Given the description of an element on the screen output the (x, y) to click on. 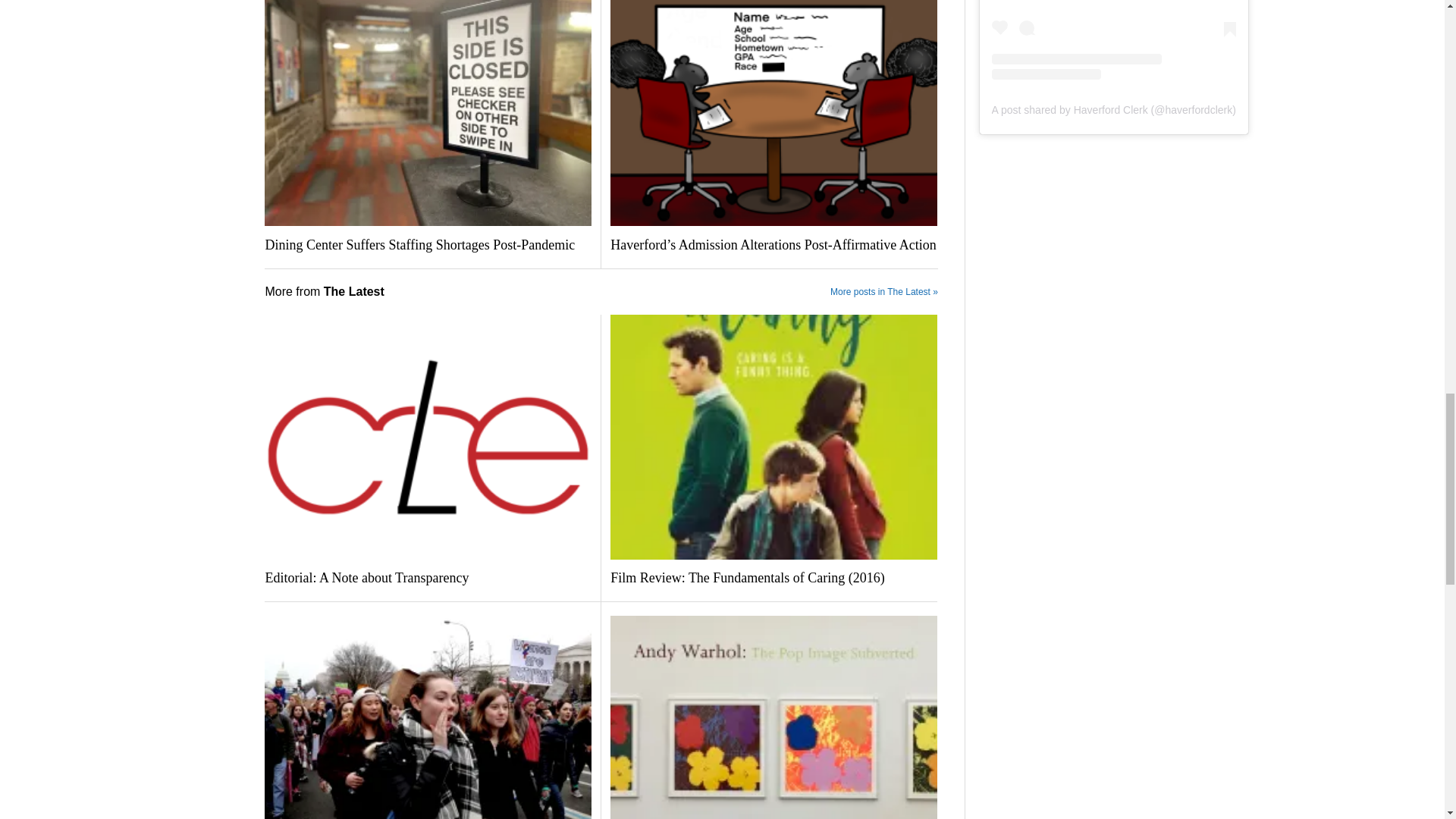
Editorial: A Note about Transparency (427, 578)
Dining Center Suffers Staffing Shortages Post-Pandemic (427, 245)
